Given the description of an element on the screen output the (x, y) to click on. 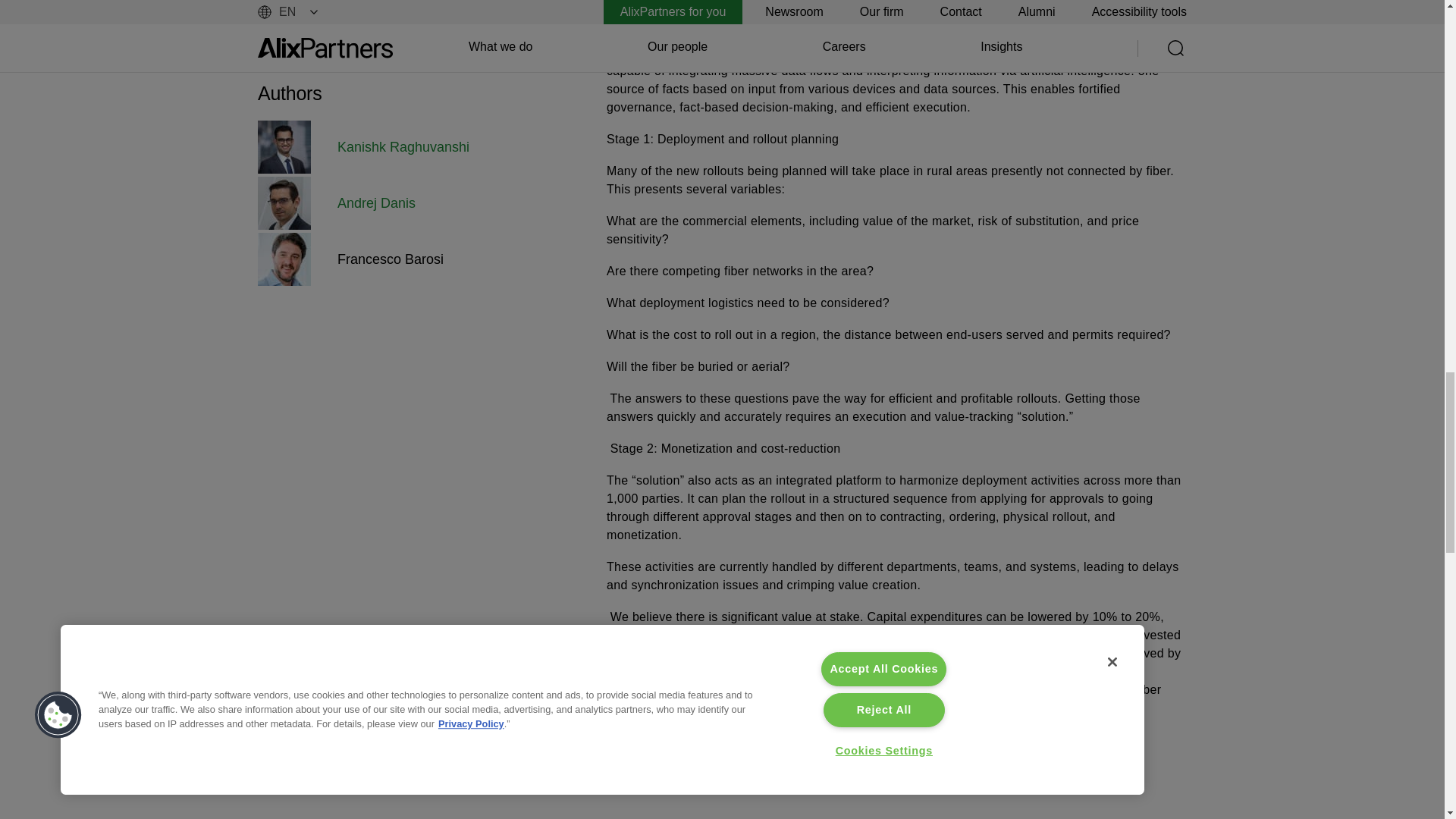
total capex (1098, 634)
Palantir (988, 4)
